Given the description of an element on the screen output the (x, y) to click on. 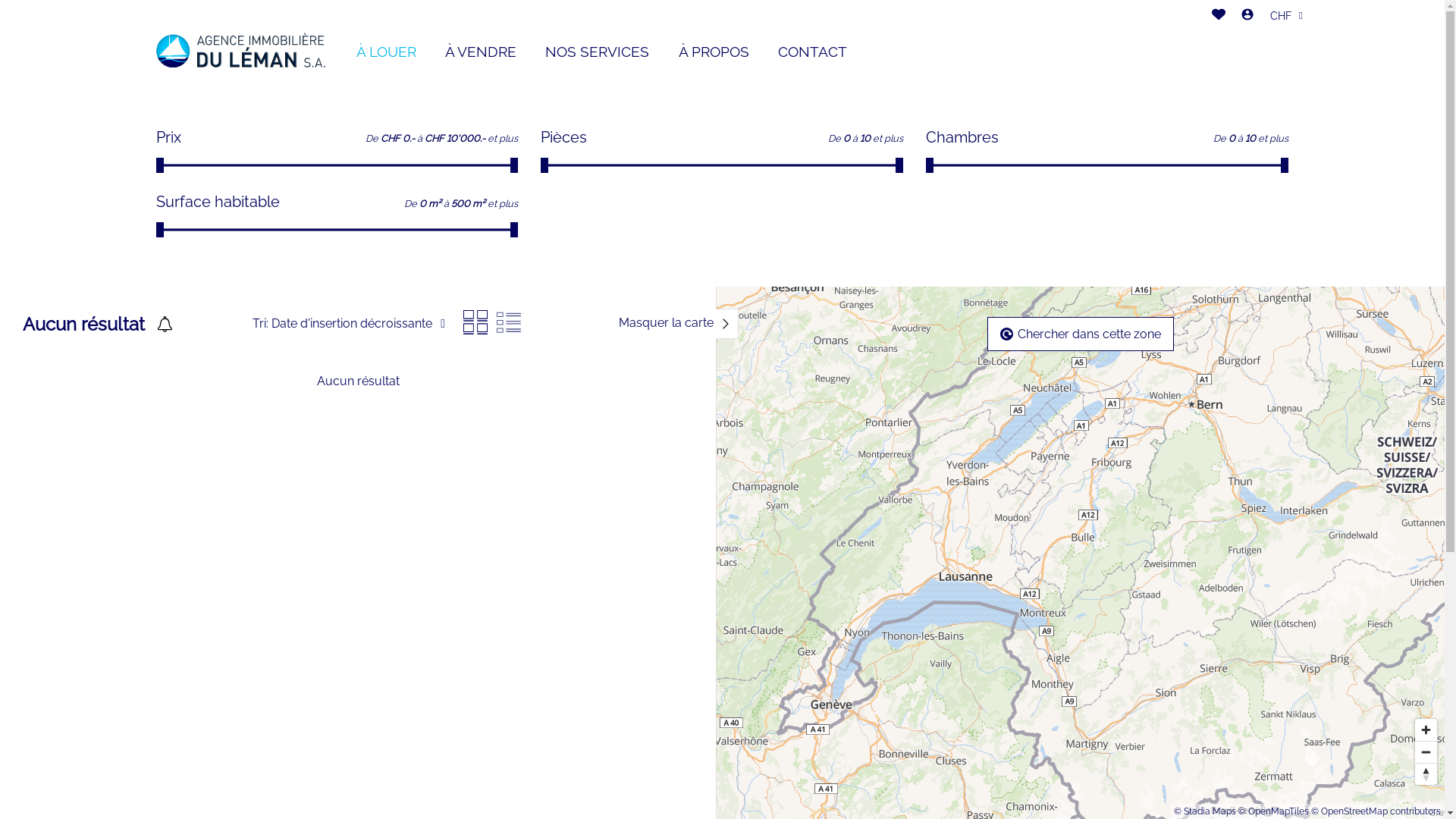
CONTACT Element type: text (812, 51)
Reset bearing to north Element type: hover (1426, 773)
Zoom out Element type: hover (1426, 751)
NOS SERVICES Element type: text (597, 51)
Zoom in Element type: hover (1426, 729)
Chercher dans cette zone Element type: text (1080, 333)
